Given the description of an element on the screen output the (x, y) to click on. 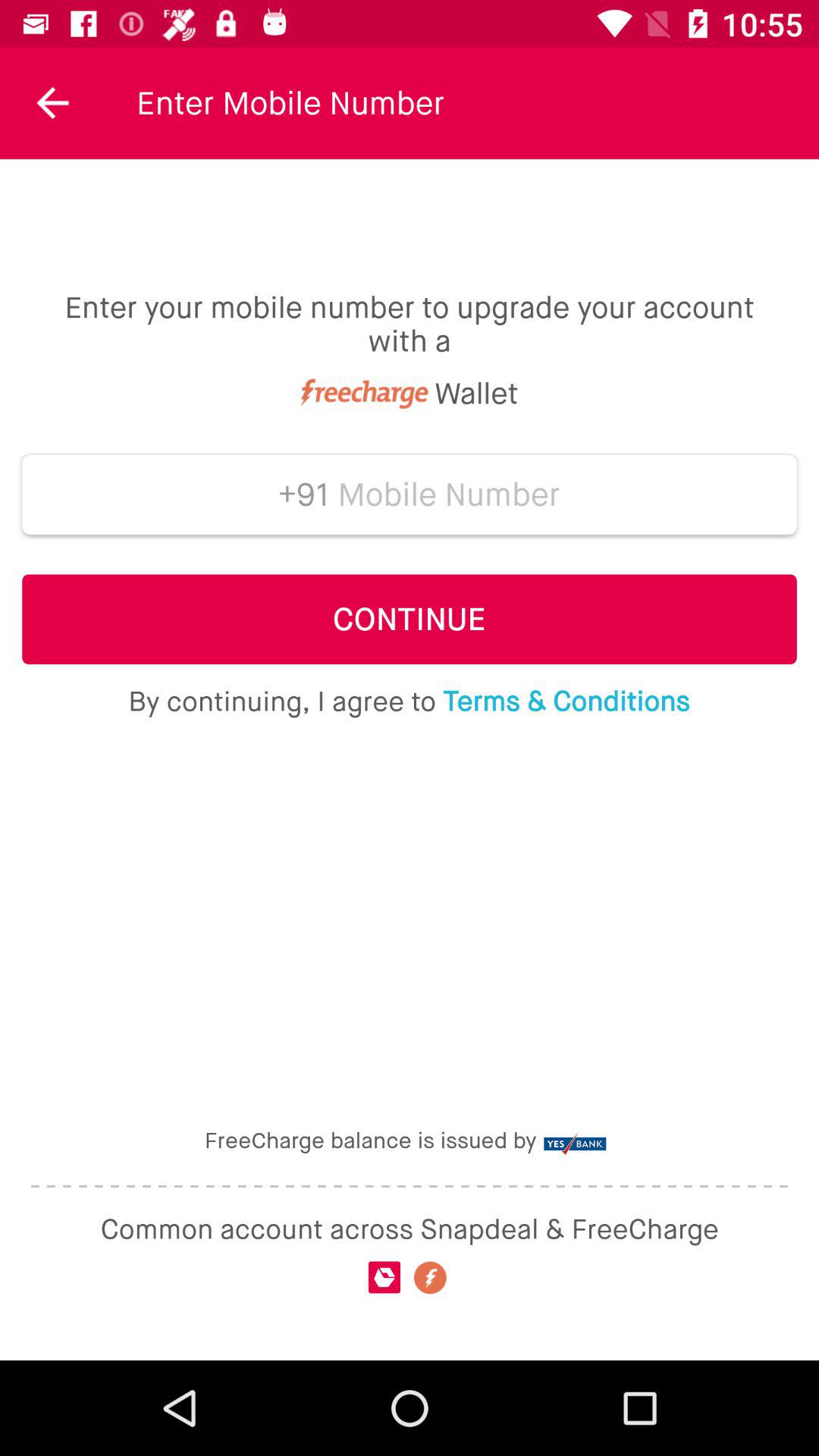
launch the icon to the left of the enter mobile number icon (52, 102)
